Given the description of an element on the screen output the (x, y) to click on. 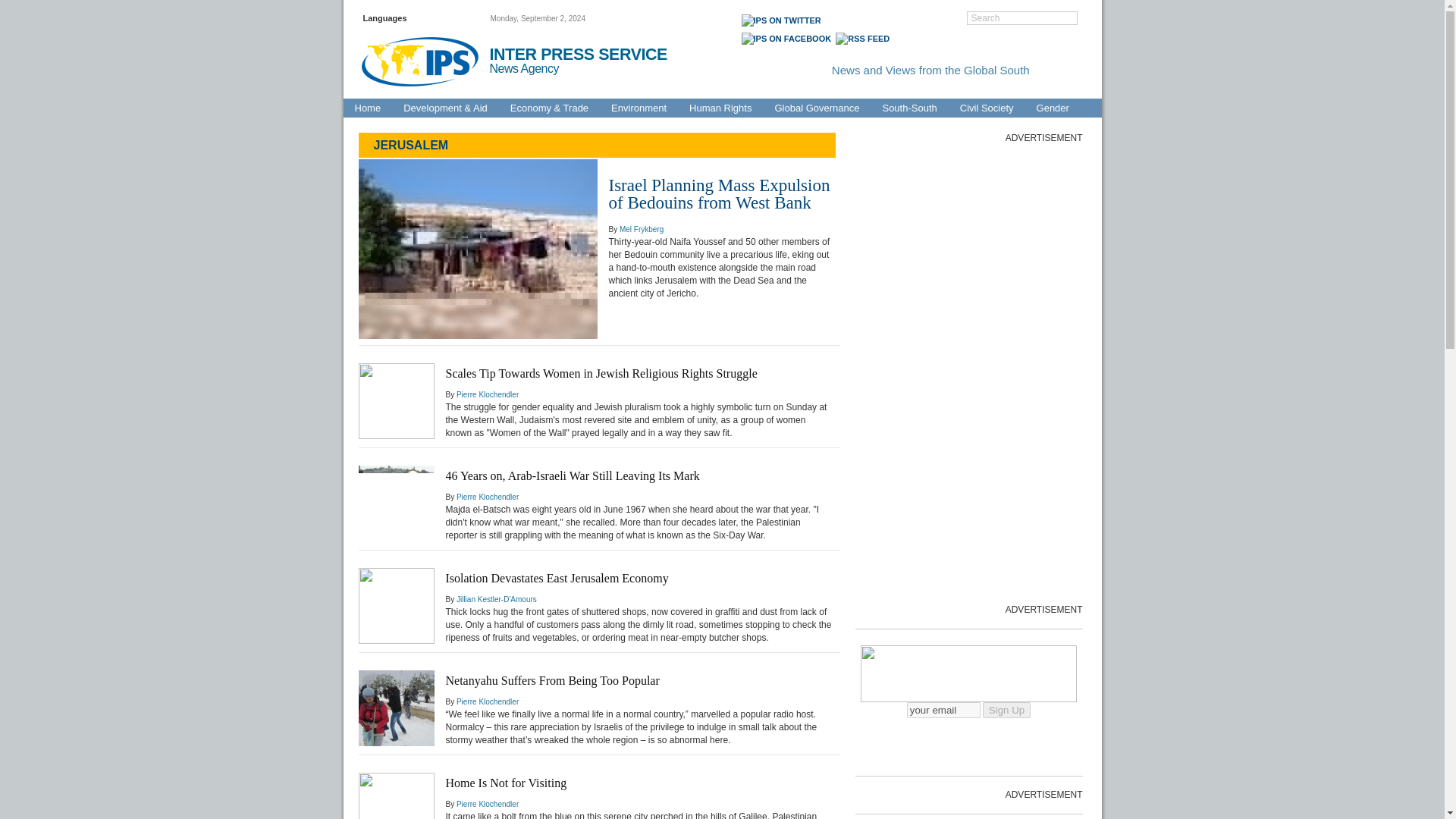
Scales Tip Towards Women in Jewish Religious Rights Struggle (601, 373)
Europe (744, 90)
Sign Up (1006, 709)
your email (943, 709)
Isolation Devastates East Jerusalem Economy (556, 577)
News Agency (531, 69)
46 Years on, Arab-Israeli War Still Leaving Its Mark (572, 475)
Home (366, 107)
North America (1025, 90)
Home Is Not for Visiting (506, 782)
